Given the description of an element on the screen output the (x, y) to click on. 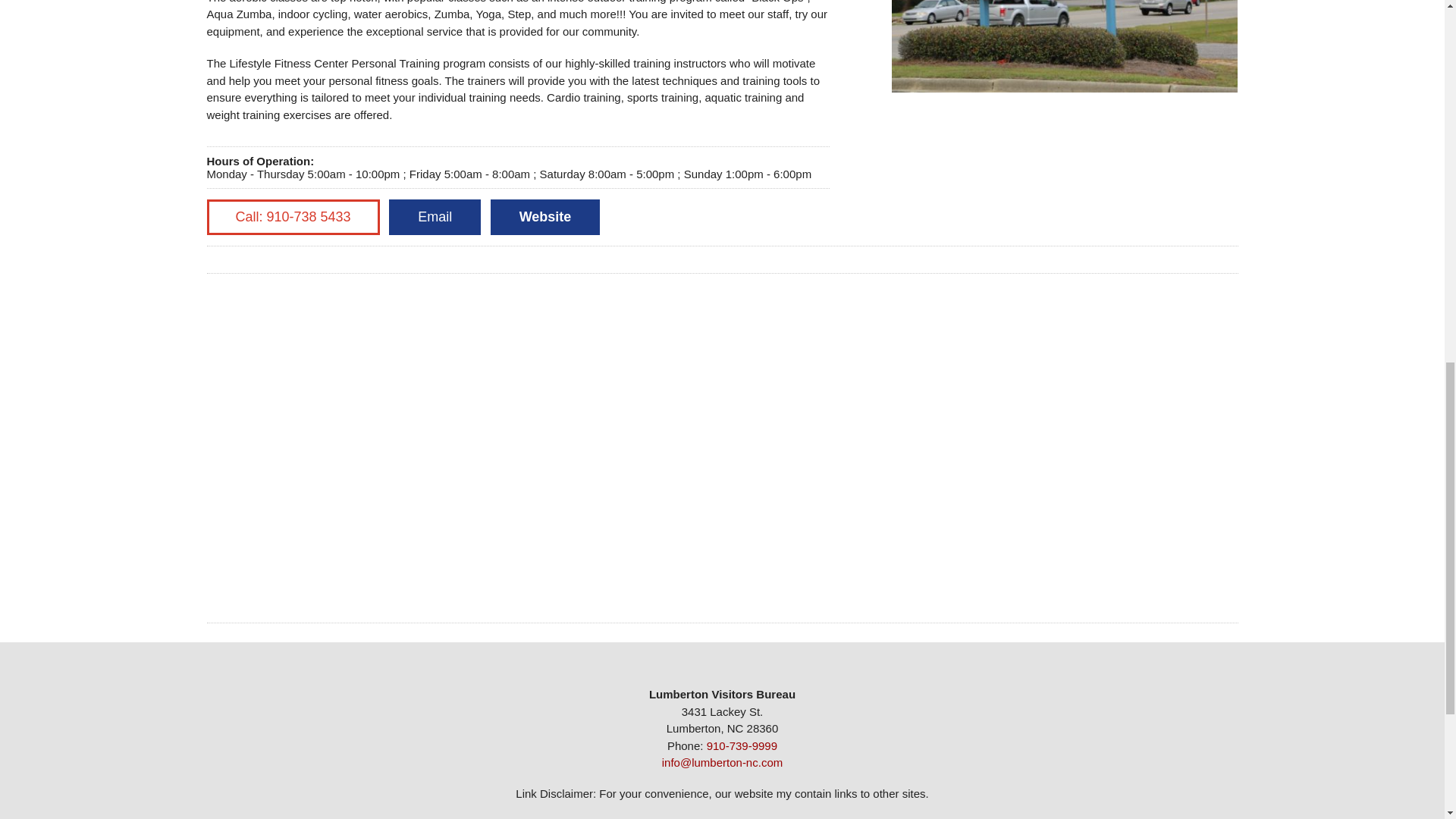
Call: 910-738 5433 (292, 217)
